Given the description of an element on the screen output the (x, y) to click on. 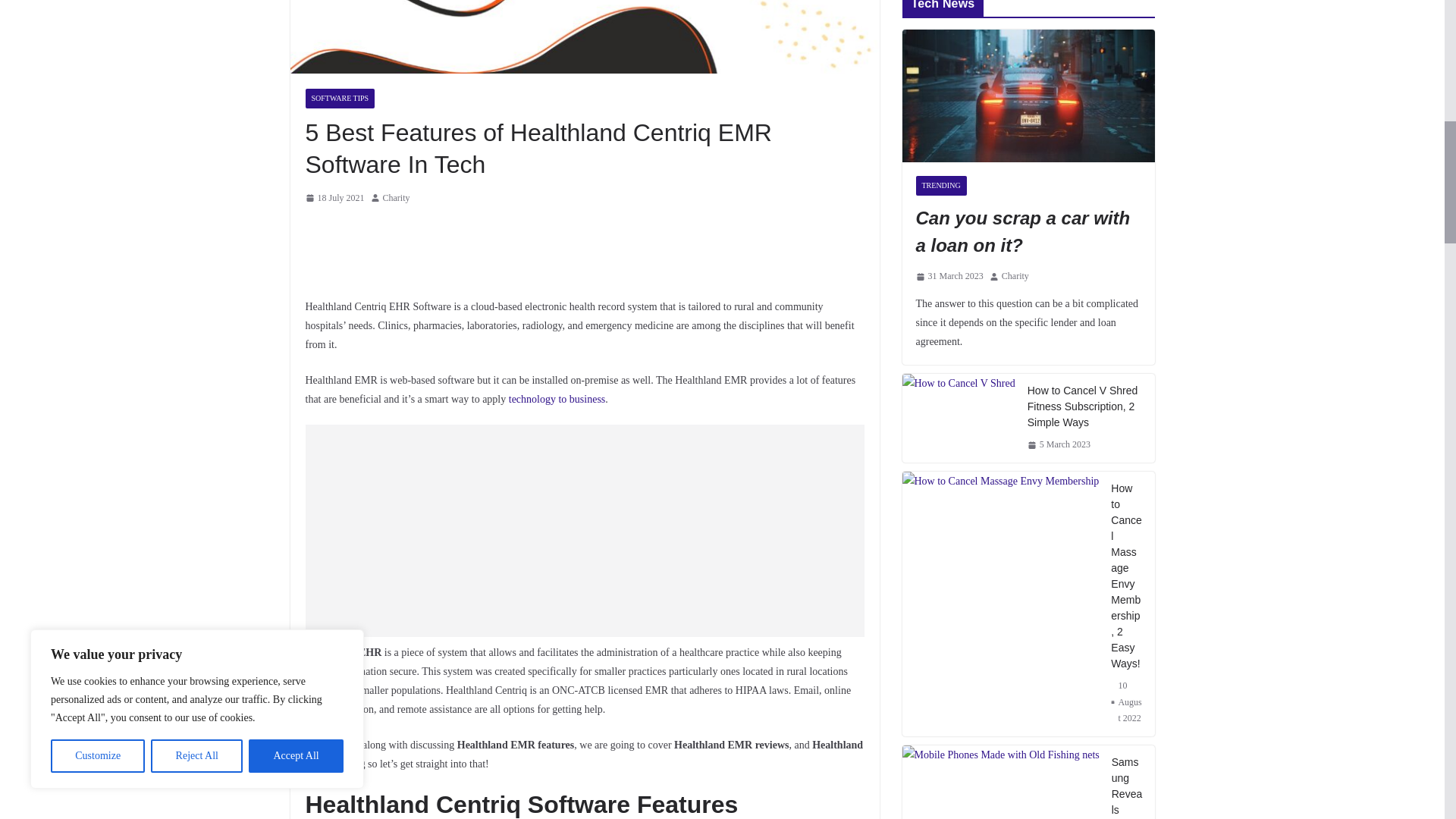
Advertisement (583, 531)
18 July 2021 (334, 198)
Charity (396, 198)
Charity (396, 198)
technology to business (556, 398)
SOFTWARE TIPS (339, 98)
1:24 am (334, 198)
5 Best Features of Healthland Centriq EMR Software In Tech 1 (584, 36)
